Given the description of an element on the screen output the (x, y) to click on. 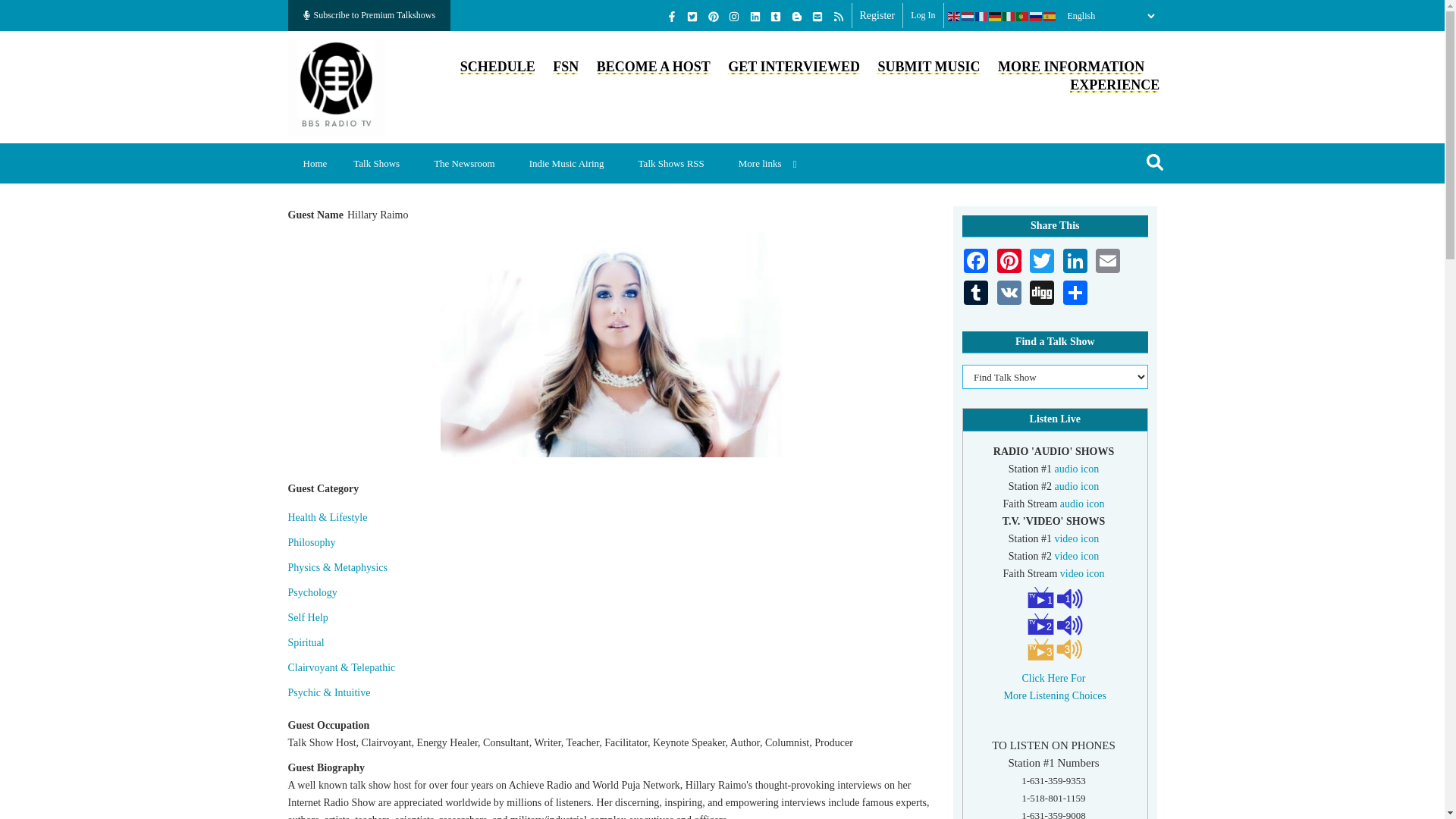
EXPERIENCE (1114, 84)
Talk Shows (382, 163)
Register (877, 15)
Deutsch (995, 15)
BBS Radio TV Live Video Stream for Station 1 (1076, 538)
BECOME A HOST (653, 66)
SUBMIT MUSIC (928, 66)
BBS Radio TV Live Audio Stream for Station 1 (1076, 469)
Faith Stream Network Live Audio Stream for Station 3 (1082, 503)
MORE INFORMATION (1070, 66)
Home (336, 85)
Italiano (1009, 15)
Nederlands (967, 15)
Faith Stream Network (565, 66)
BBS Radio TV Live Audio Stream for Station 2 (1076, 486)
